Given the description of an element on the screen output the (x, y) to click on. 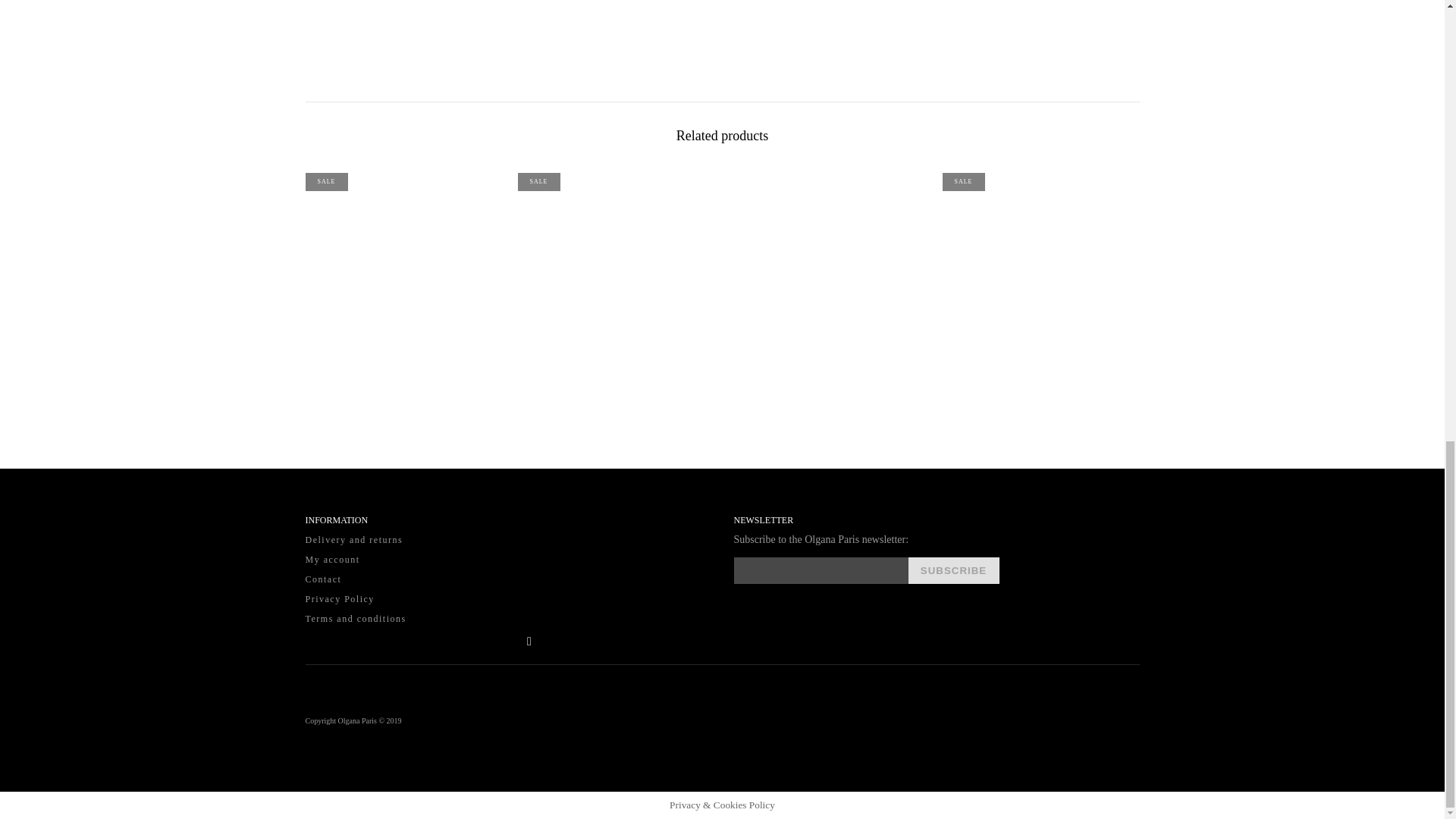
Subscribe (953, 570)
